Given the description of an element on the screen output the (x, y) to click on. 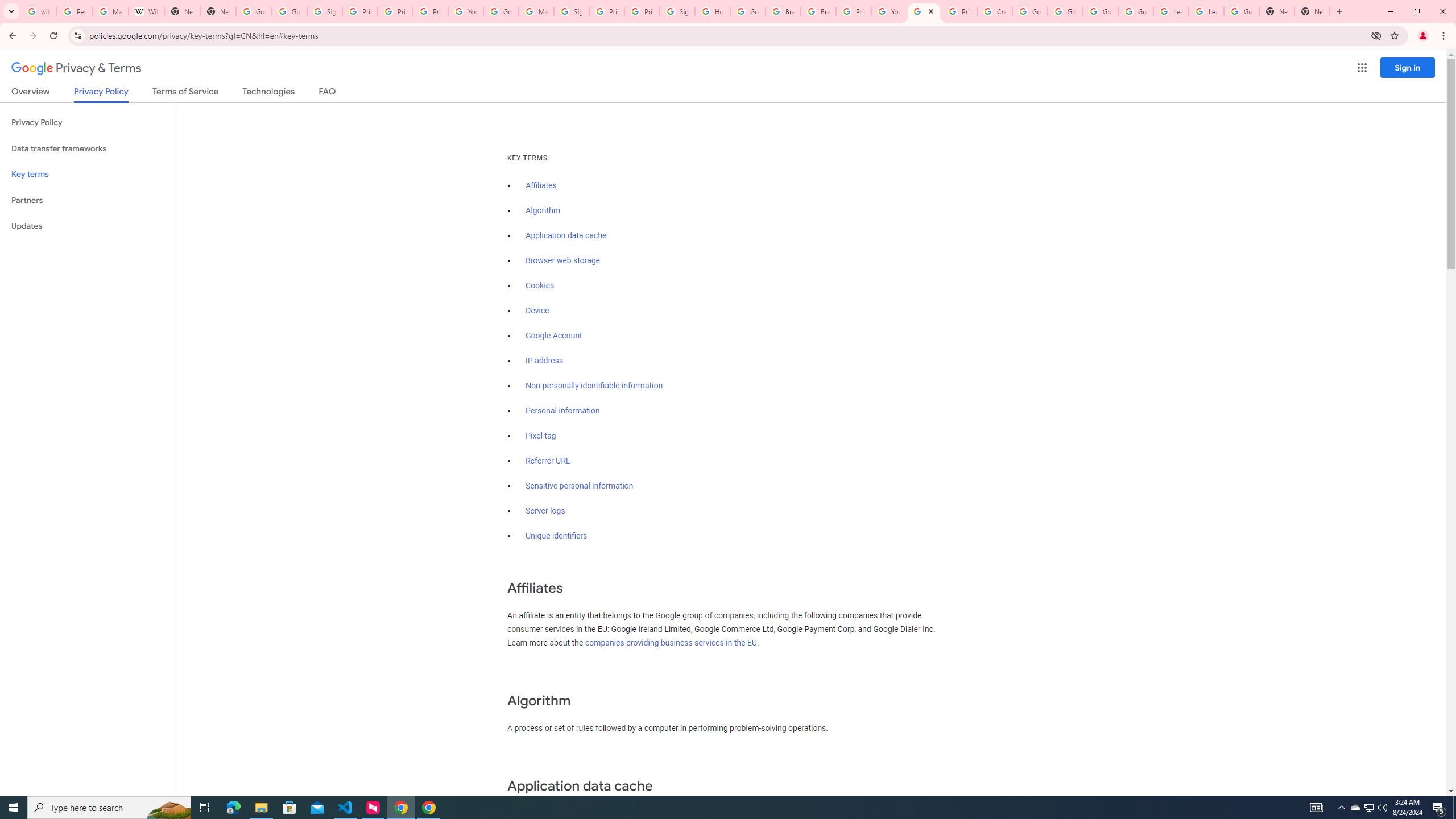
YouTube (465, 11)
Google Account (553, 335)
New Tab (1276, 11)
Algorithm (542, 210)
Google Drive: Sign-in (288, 11)
Google Account Help (1135, 11)
Updates (86, 225)
Data transfer frameworks (86, 148)
Brand Resource Center (783, 11)
YouTube (888, 11)
